Given the description of an element on the screen output the (x, y) to click on. 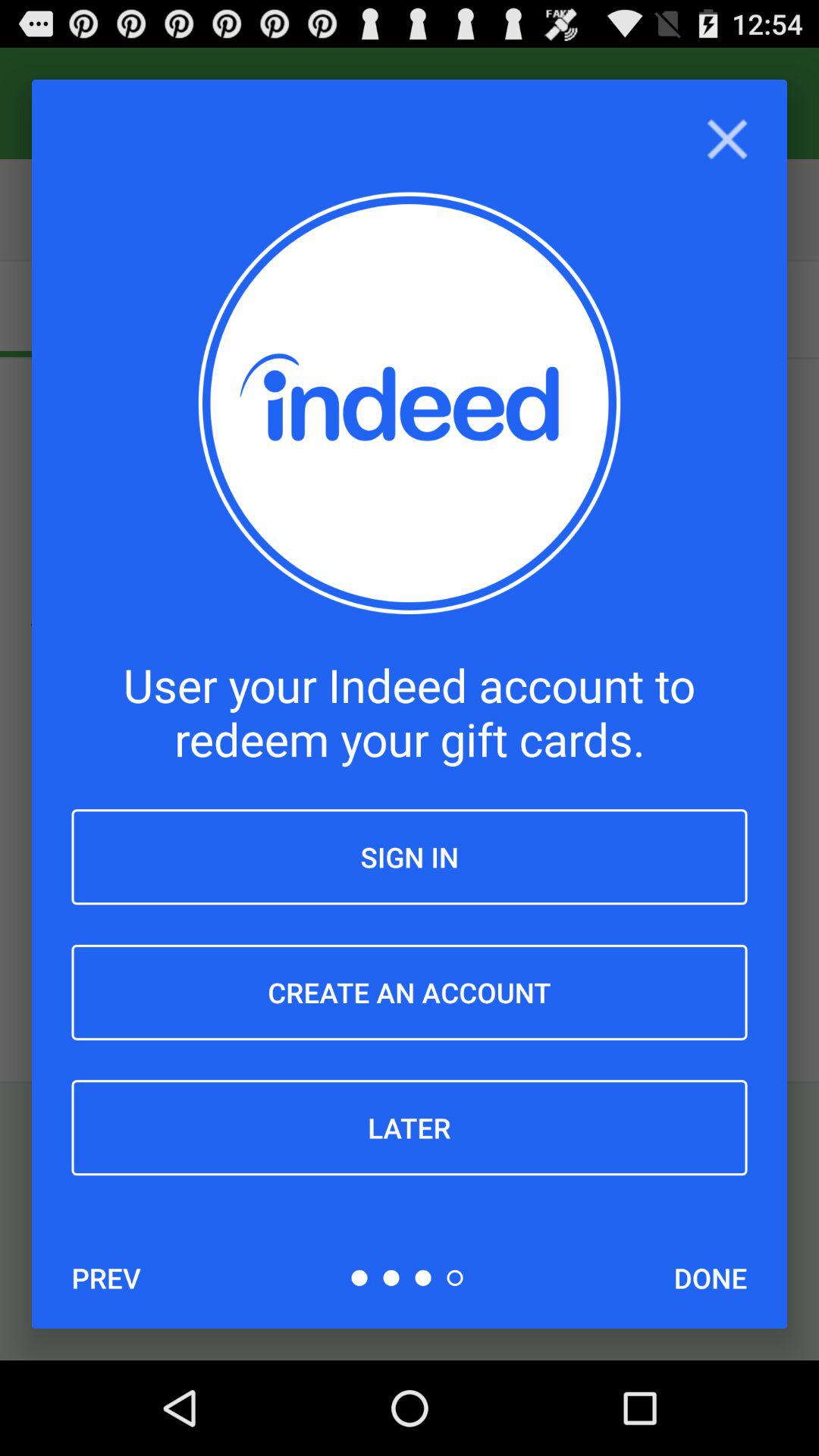
turn on the item below the create an account icon (409, 1127)
